Given the description of an element on the screen output the (x, y) to click on. 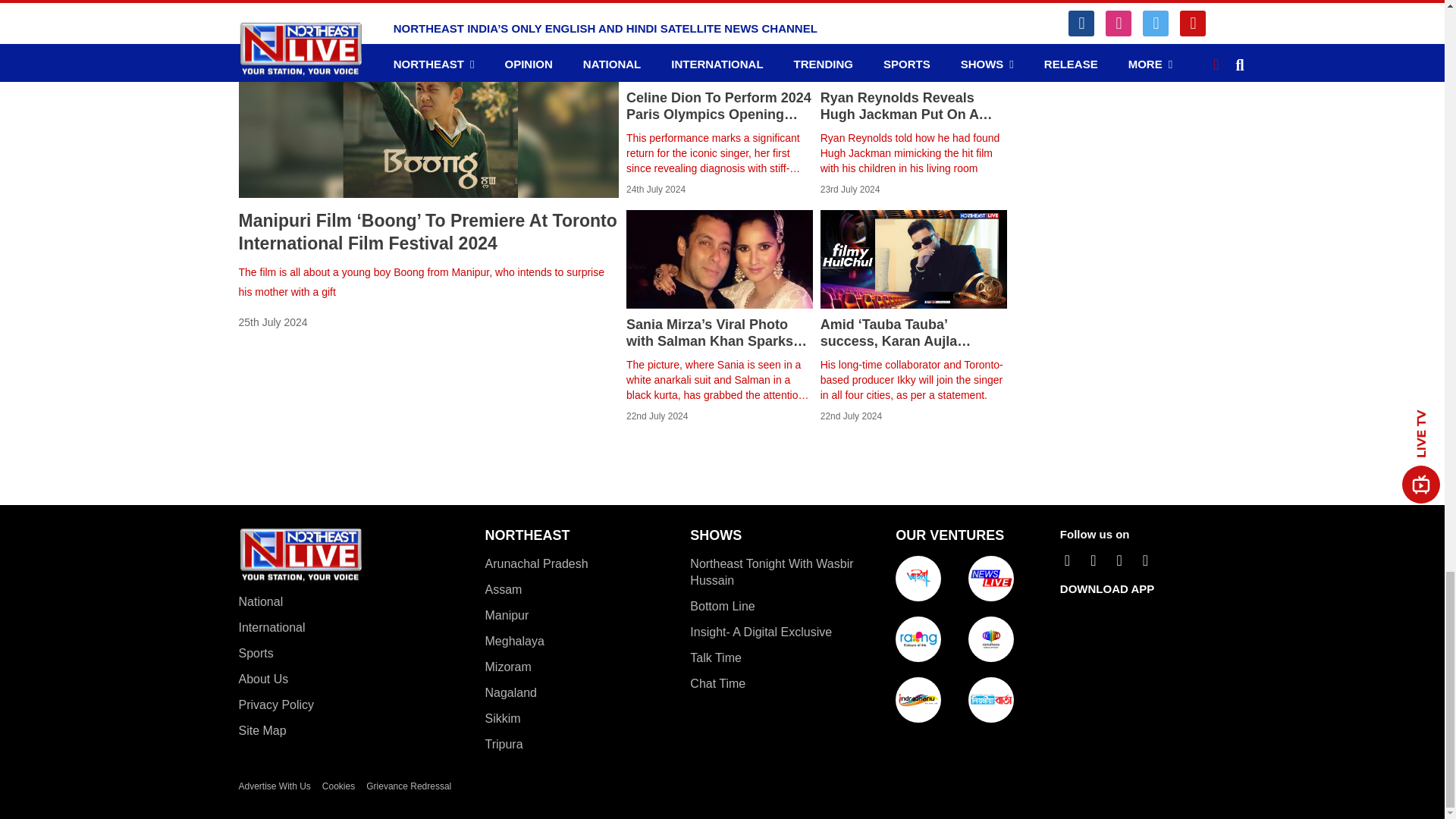
Logo (299, 559)
